Given the description of an element on the screen output the (x, y) to click on. 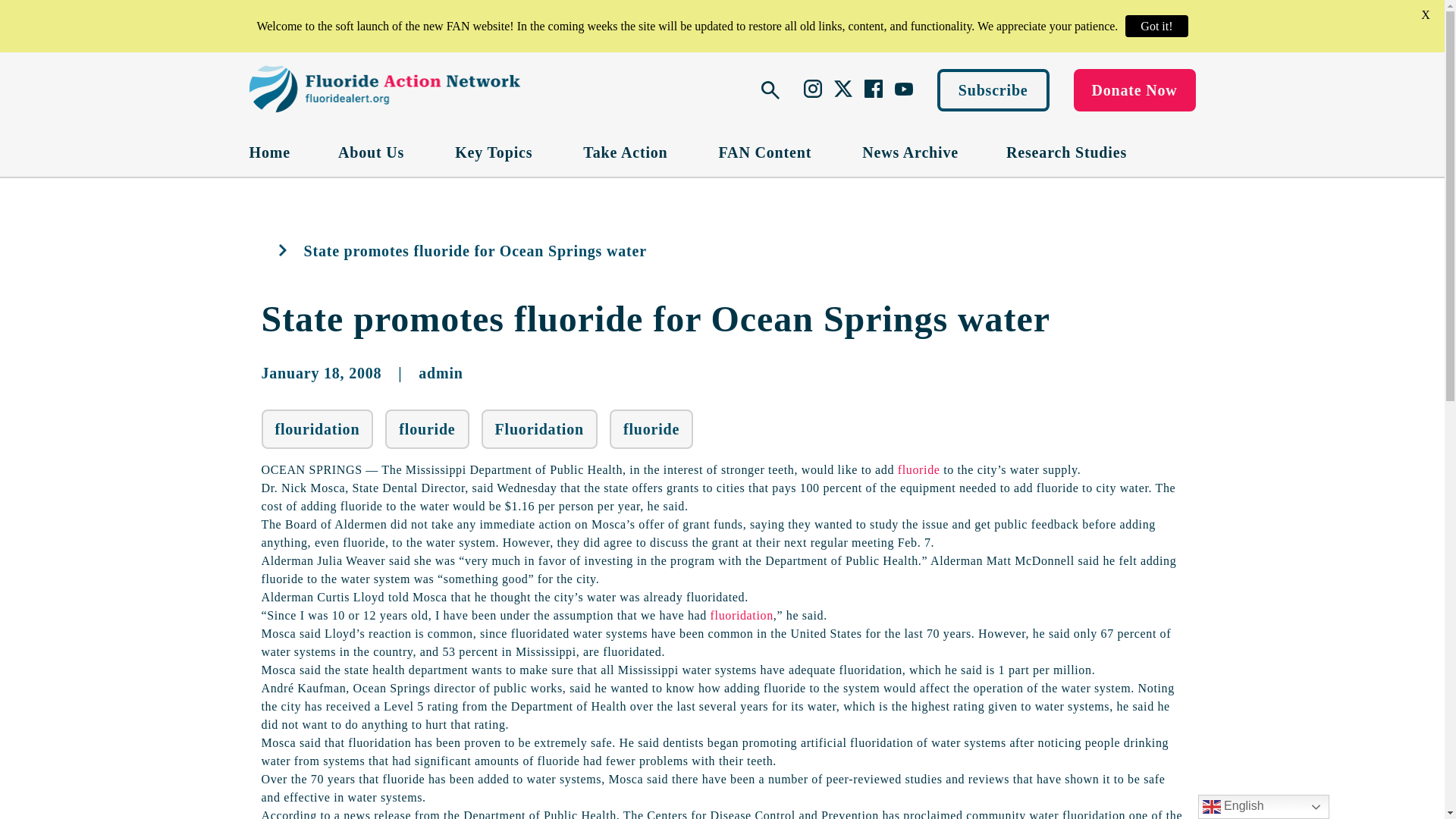
Take Action (626, 152)
Research Studies (1066, 152)
FAN Content (767, 152)
Subscribe (993, 89)
Key Topics (494, 152)
Subscribe (992, 89)
Posts by admin (441, 372)
State promotes fluoride for Ocean Springs water (654, 318)
Home (268, 152)
News Archive (909, 152)
Donate Now (1134, 89)
Donate Now (1134, 89)
About Us (372, 152)
